Given the description of an element on the screen output the (x, y) to click on. 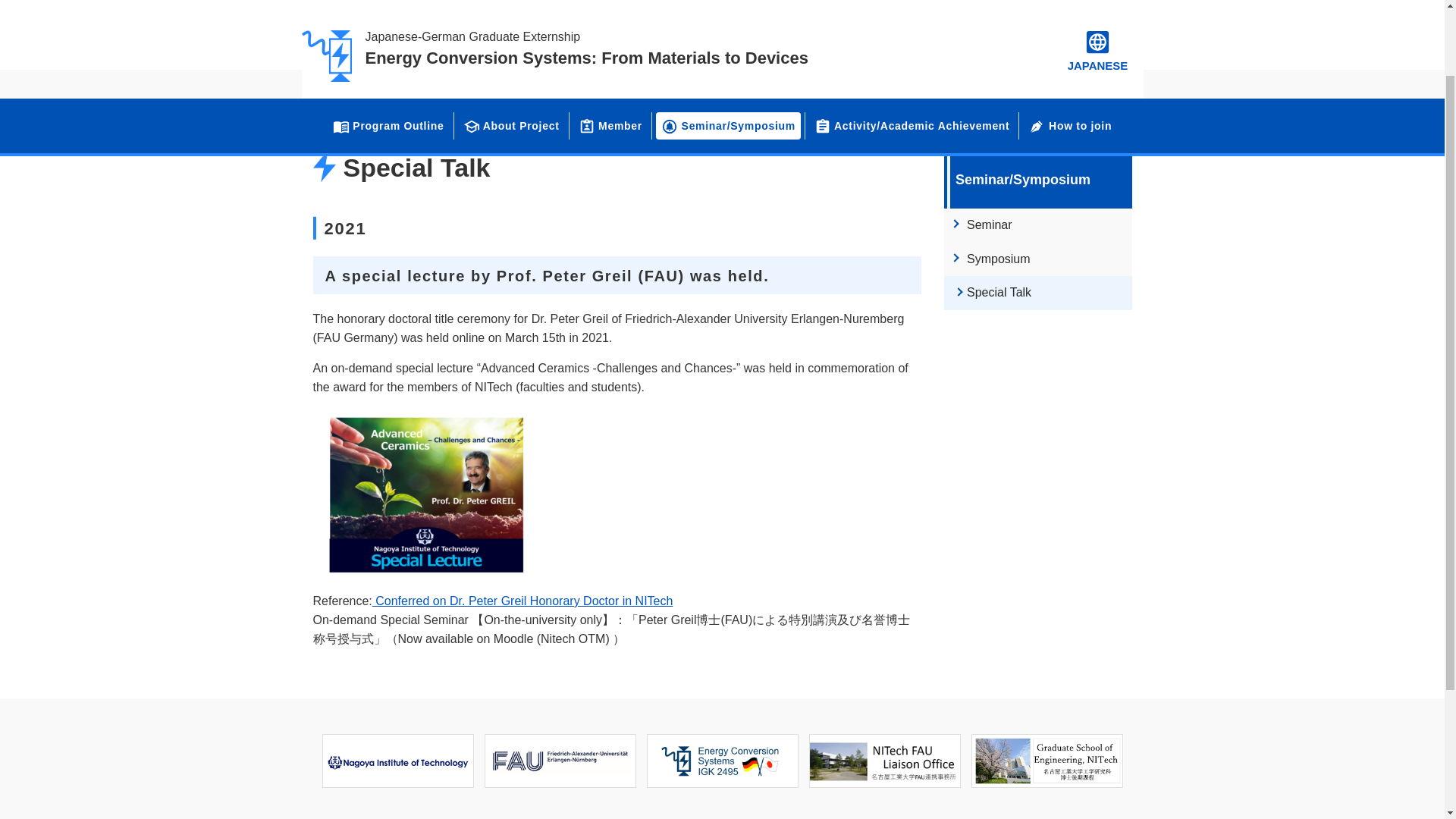
Energy Conversion Systems IGK 2495 (721, 760)
Frontier Research Institutes (1046, 760)
Nagoya Institute of Technology (397, 760)
Program Outline (388, 39)
Symposium (1037, 259)
Seminar (1037, 225)
About Project (511, 39)
Special Talk (1037, 293)
HOME (339, 93)
How to join (1069, 39)
